Given the description of an element on the screen output the (x, y) to click on. 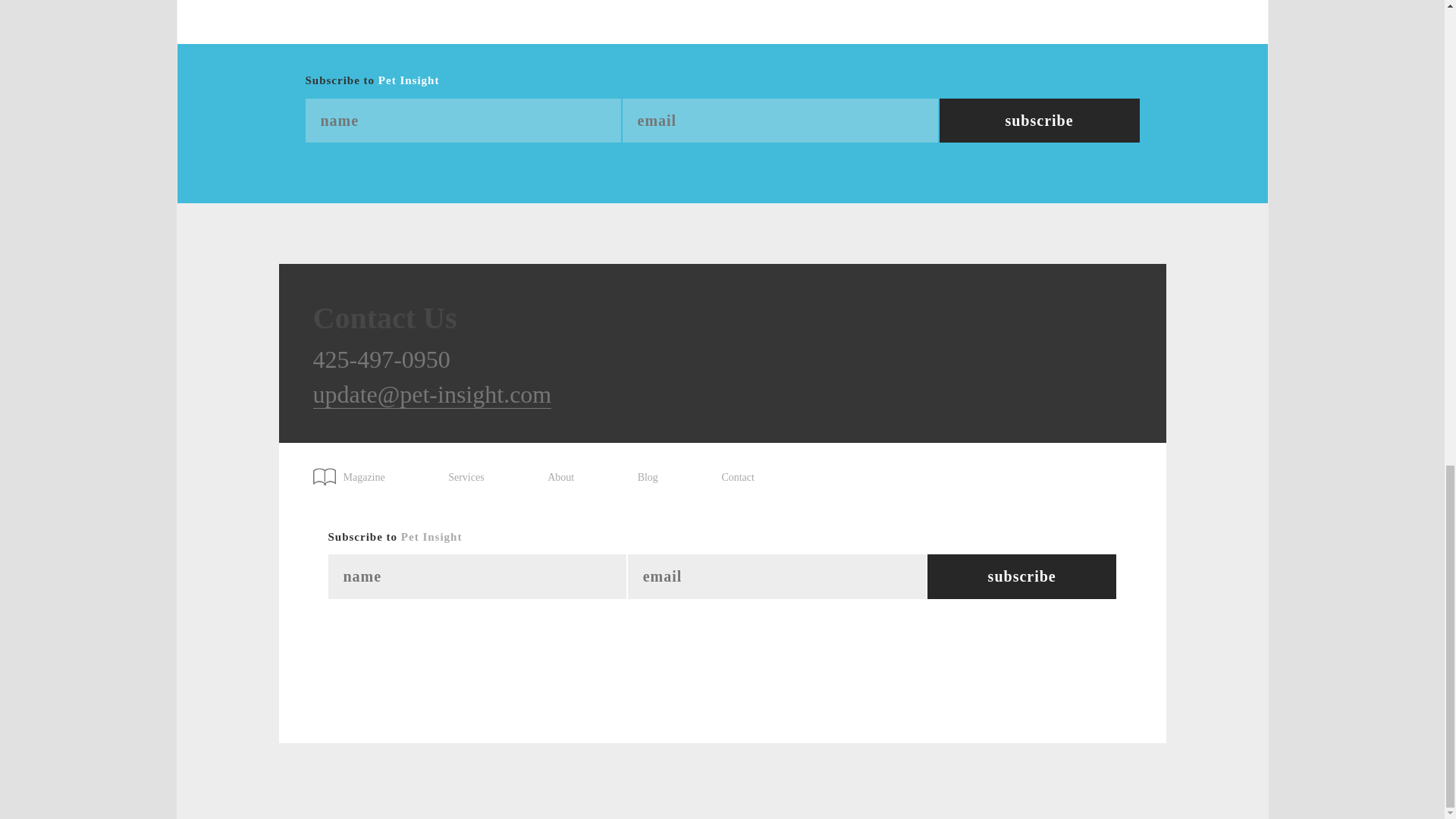
Services (465, 477)
Blog (647, 477)
Subscribe (1021, 576)
About (560, 477)
Subscribe (1021, 576)
Contact (737, 477)
Subscribe (1038, 120)
Magazine (355, 471)
Subscribe (1038, 120)
